Given the description of an element on the screen output the (x, y) to click on. 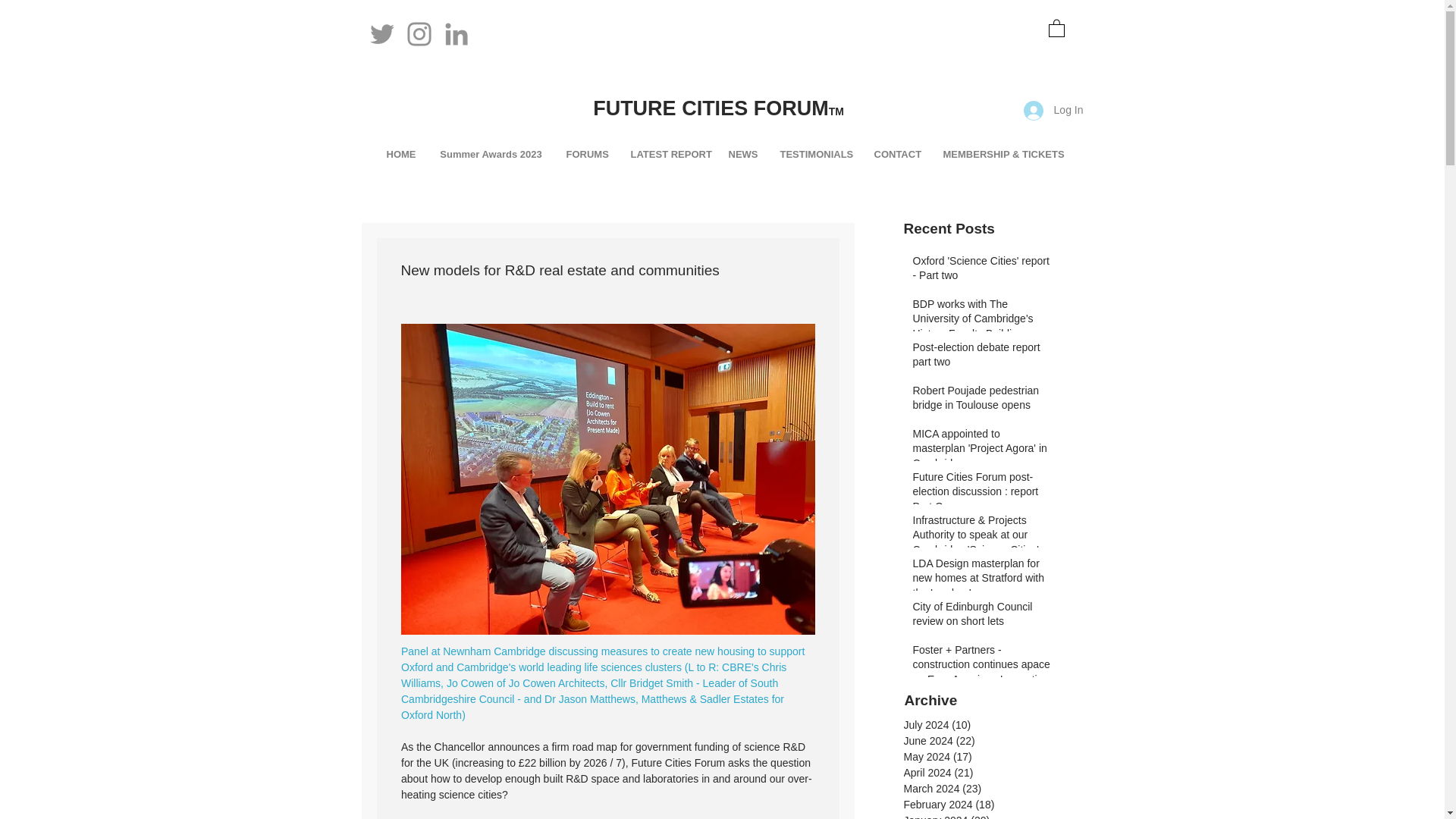
Log In (1053, 110)
NEWS (742, 153)
CONTACT (897, 153)
Oxford 'Science Cities' report - Part two (981, 271)
Summer Awards 2023 (491, 153)
TESTIMONIALS (815, 153)
Robert Poujade pedestrian bridge in Toulouse opens (981, 401)
FORUMS (587, 153)
City of Edinburgh Council review on short lets (981, 617)
Post-election debate report part two (981, 357)
Twitter Tweet (389, 142)
MICA appointed to masterplan 'Project Agora' in Cambridge (981, 451)
